Given the description of an element on the screen output the (x, y) to click on. 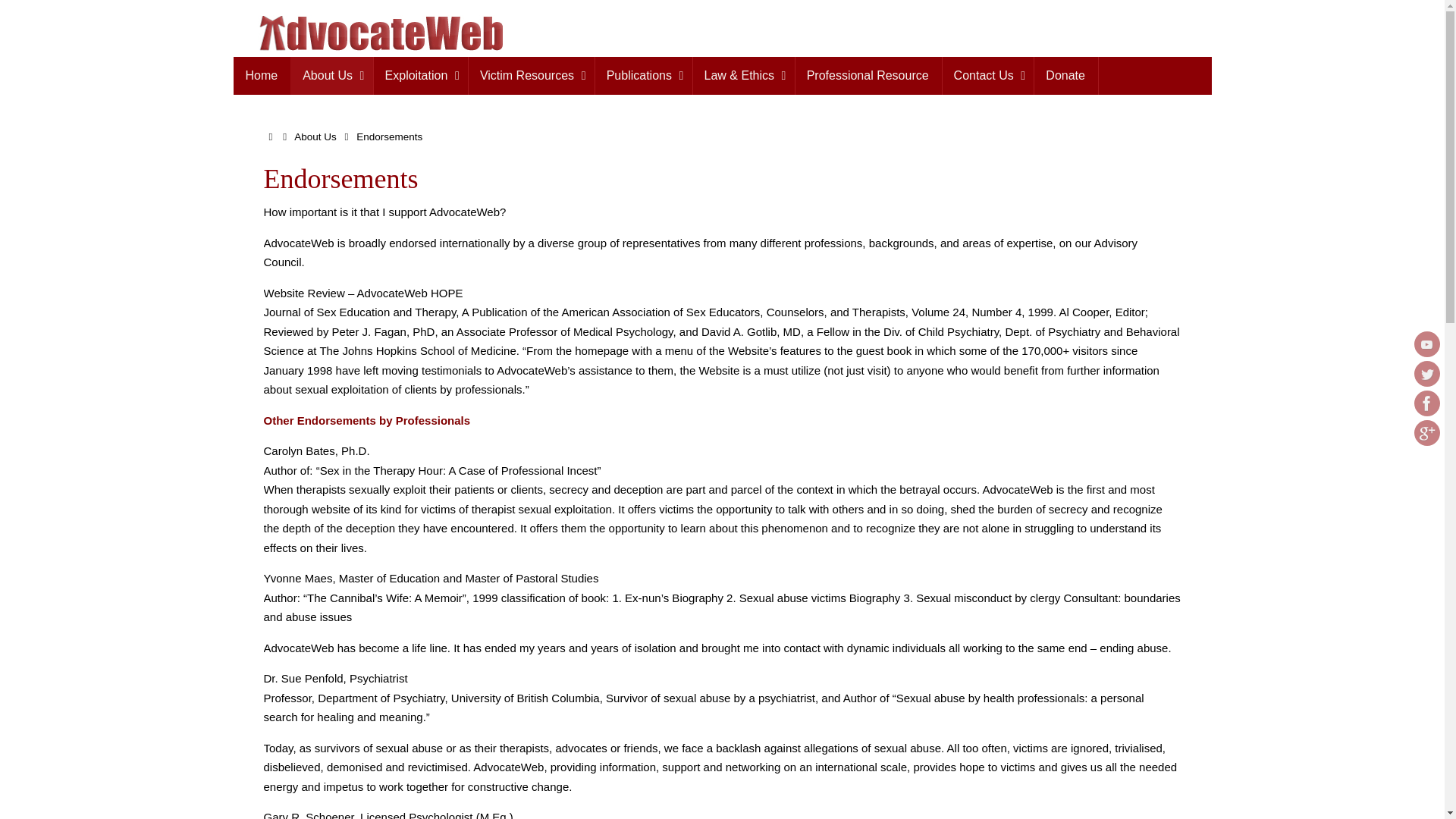
AdvocateWeb (367, 33)
Exploitation (419, 75)
Victim Resources (530, 75)
Facebook (1426, 403)
Publications (643, 75)
Youtube (1426, 344)
About Us (330, 75)
Twitter (1426, 373)
Home (261, 75)
